Given the description of an element on the screen output the (x, y) to click on. 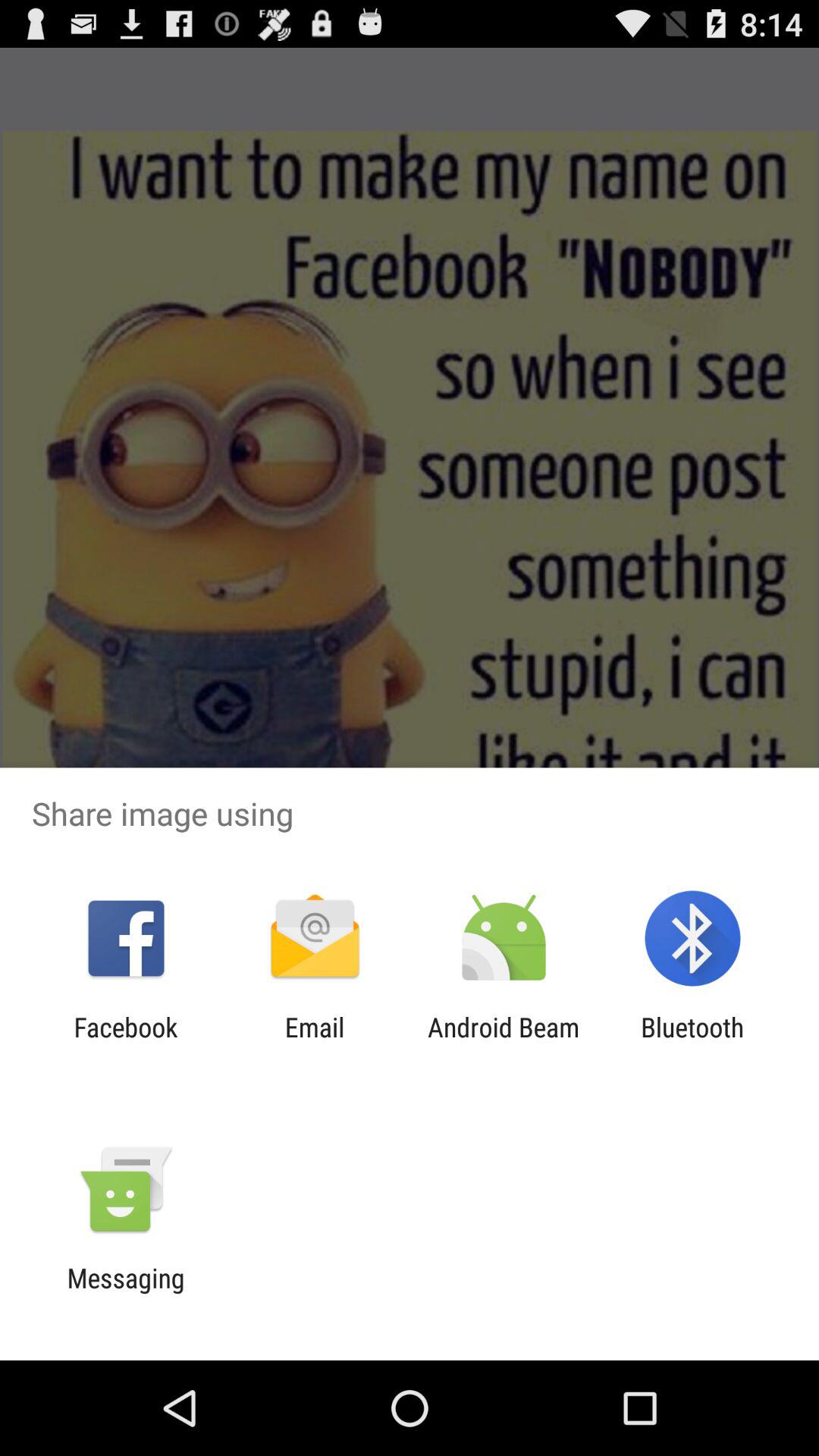
turn on the icon next to the android beam (314, 1042)
